Given the description of an element on the screen output the (x, y) to click on. 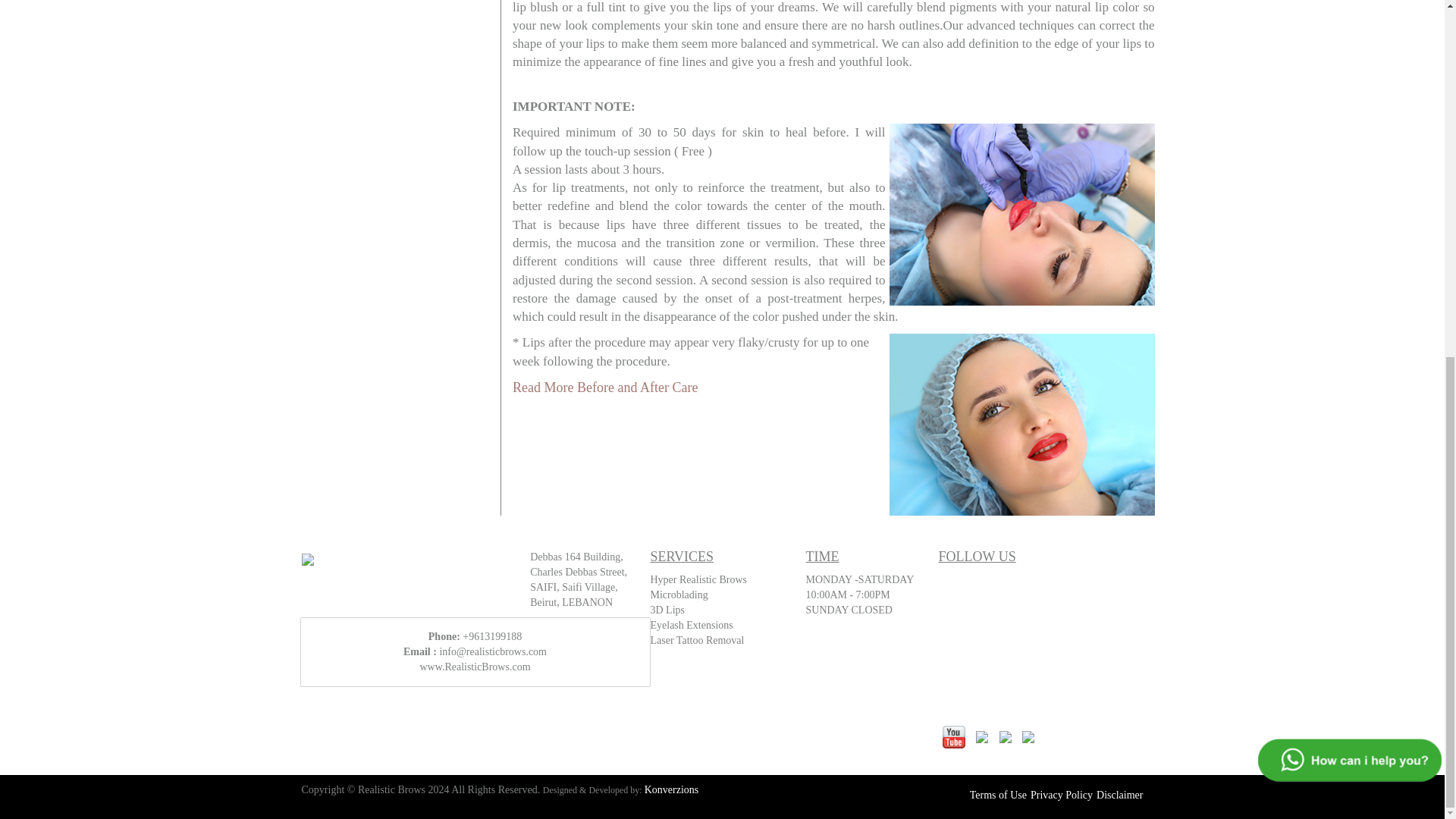
Laser Tattoo Removal (697, 640)
Read More Before and After Care (604, 387)
Konverzions (671, 789)
Eyelash Extensions (691, 624)
Terms of Use (997, 794)
Hyper Realistic Brows (699, 579)
Microblading (678, 594)
3D Lips (667, 609)
Privacy Policy (1061, 794)
